Given the description of an element on the screen output the (x, y) to click on. 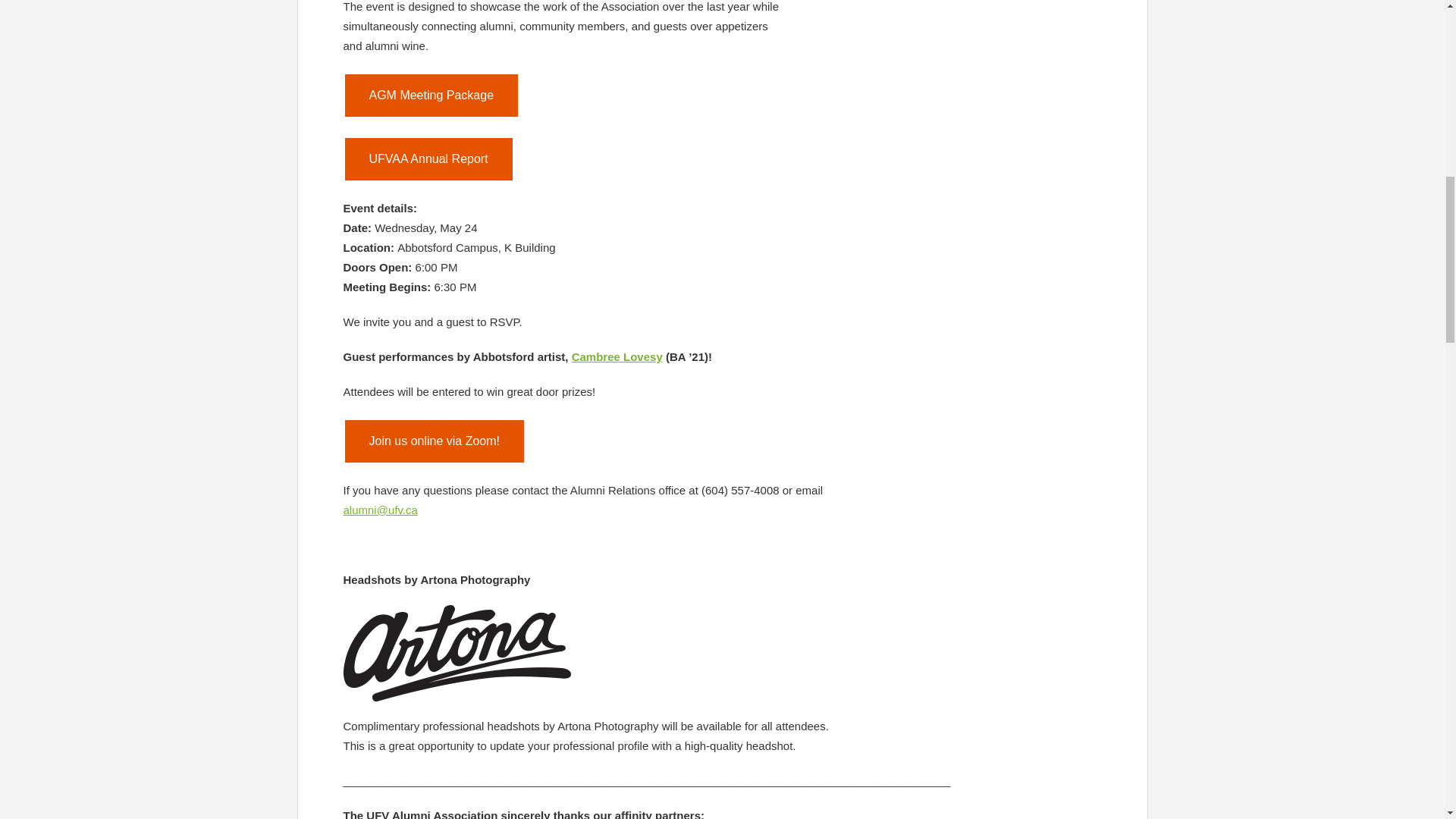
AGM Meeting Package (430, 95)
